Given the description of an element on the screen output the (x, y) to click on. 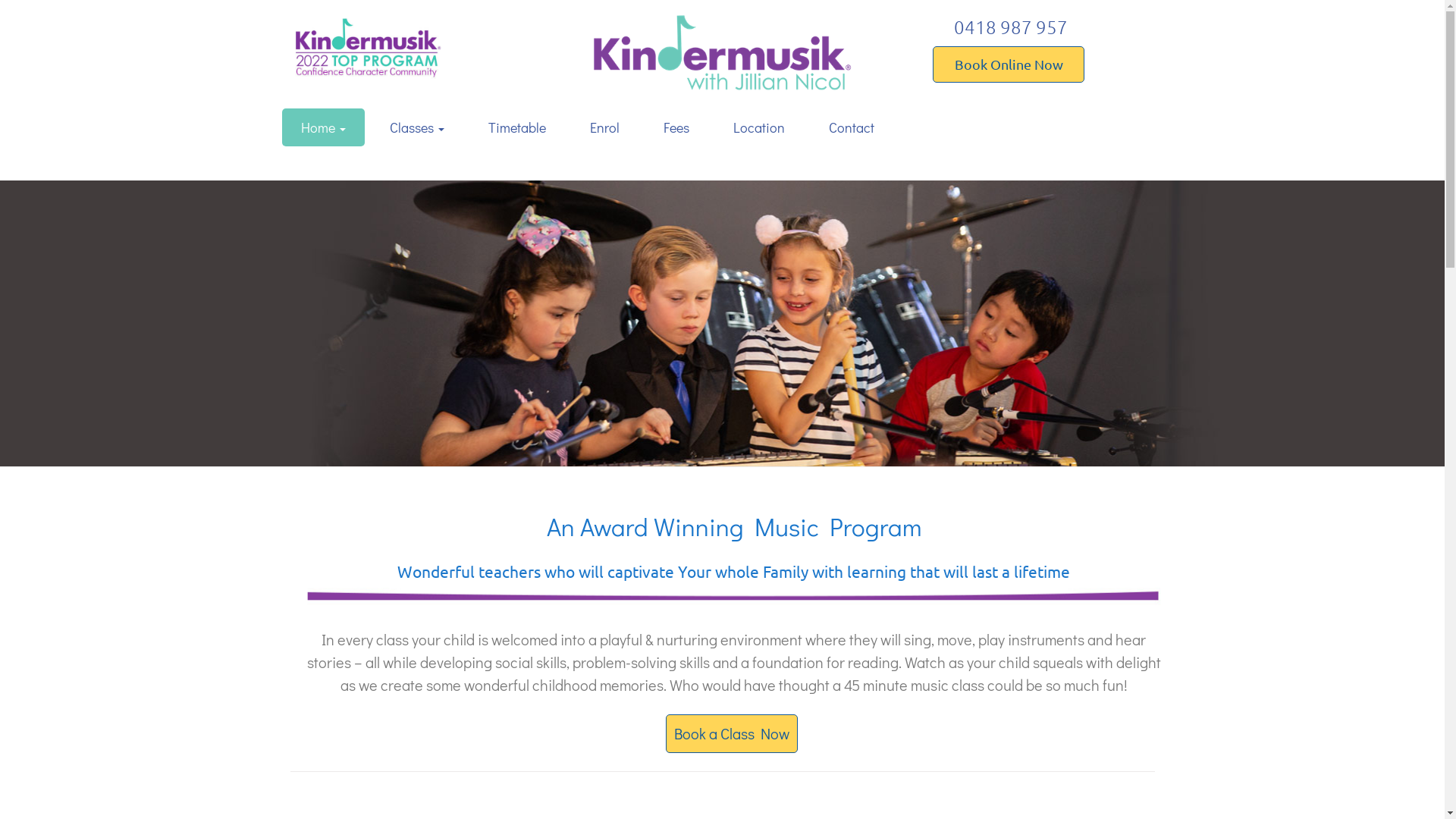
Location Element type: text (758, 127)
Enrol Element type: text (603, 127)
Classes Element type: text (416, 127)
Book a Class Now Element type: text (731, 733)
Book Online Now Element type: text (1008, 64)
Home Element type: text (323, 127)
0418 987 957 Element type: text (1010, 42)
Contact Element type: text (851, 127)
Timetable Element type: text (516, 127)
Fees Element type: text (676, 127)
